Given the description of an element on the screen output the (x, y) to click on. 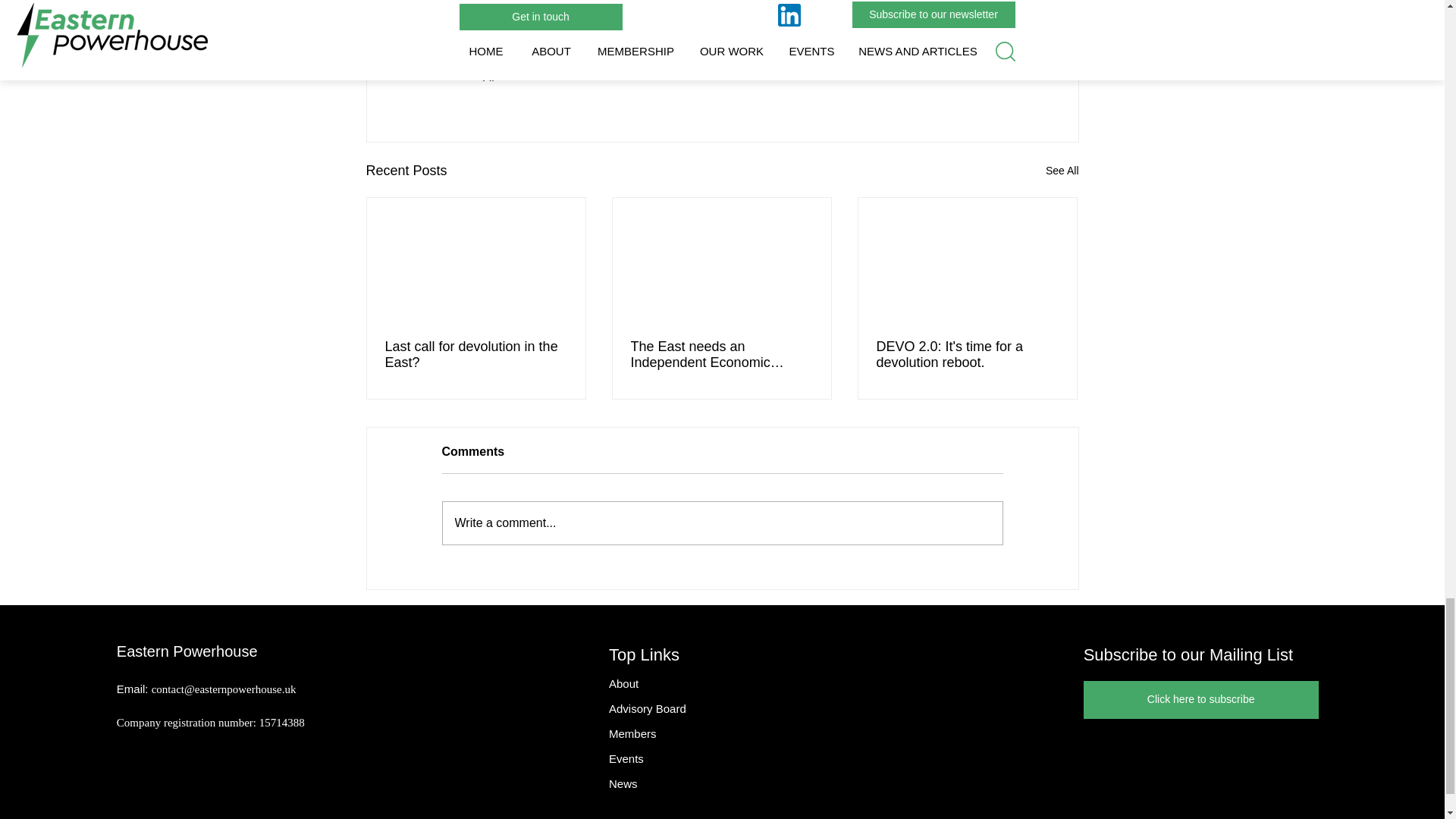
Write a comment... (722, 523)
Company registration number: 15714388 (210, 722)
About (623, 683)
DEVO 2.0: It's time for a devolution reboot. (967, 355)
Advisory Board (646, 707)
The East needs an Independent Economic Review (721, 355)
See All (1061, 170)
News (622, 783)
Members (632, 733)
Events (625, 758)
Click here to subscribe (1201, 699)
Last call for devolution in the East? (476, 355)
